Given the description of an element on the screen output the (x, y) to click on. 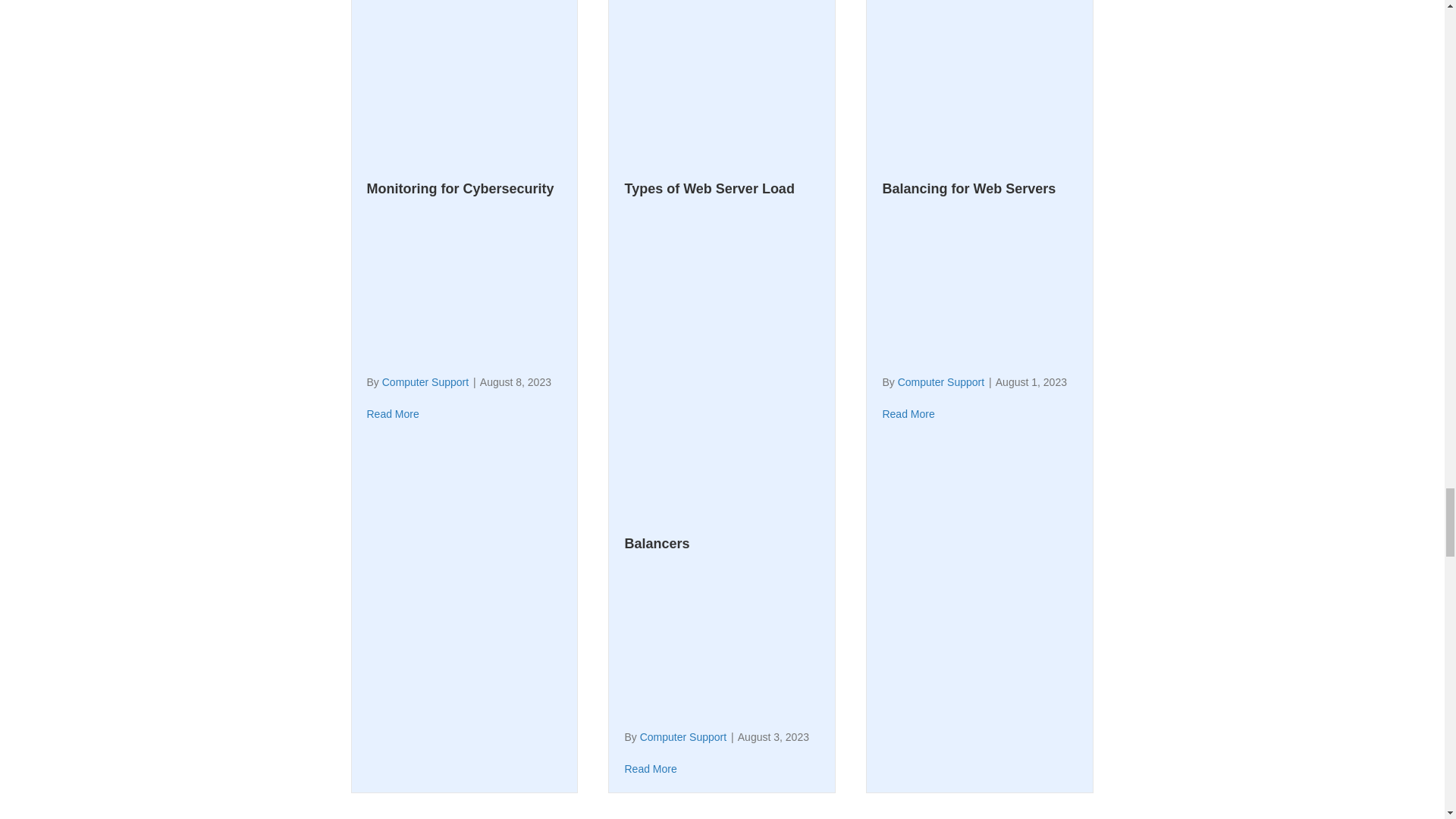
The Importance of Network Monitoring for Cybersecurity (460, 98)
